Given the description of an element on the screen output the (x, y) to click on. 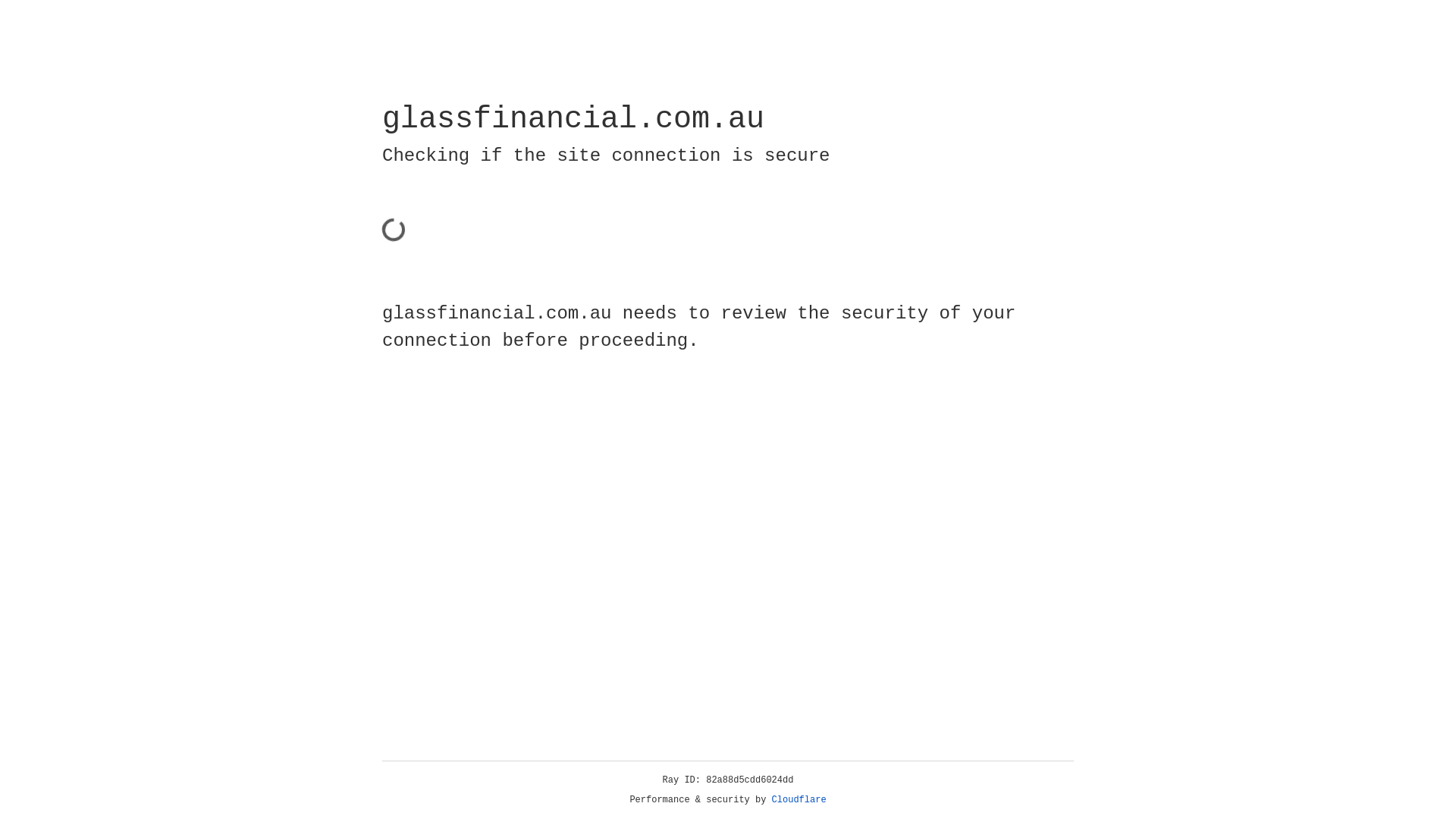
Cloudflare Element type: text (798, 799)
